Given the description of an element on the screen output the (x, y) to click on. 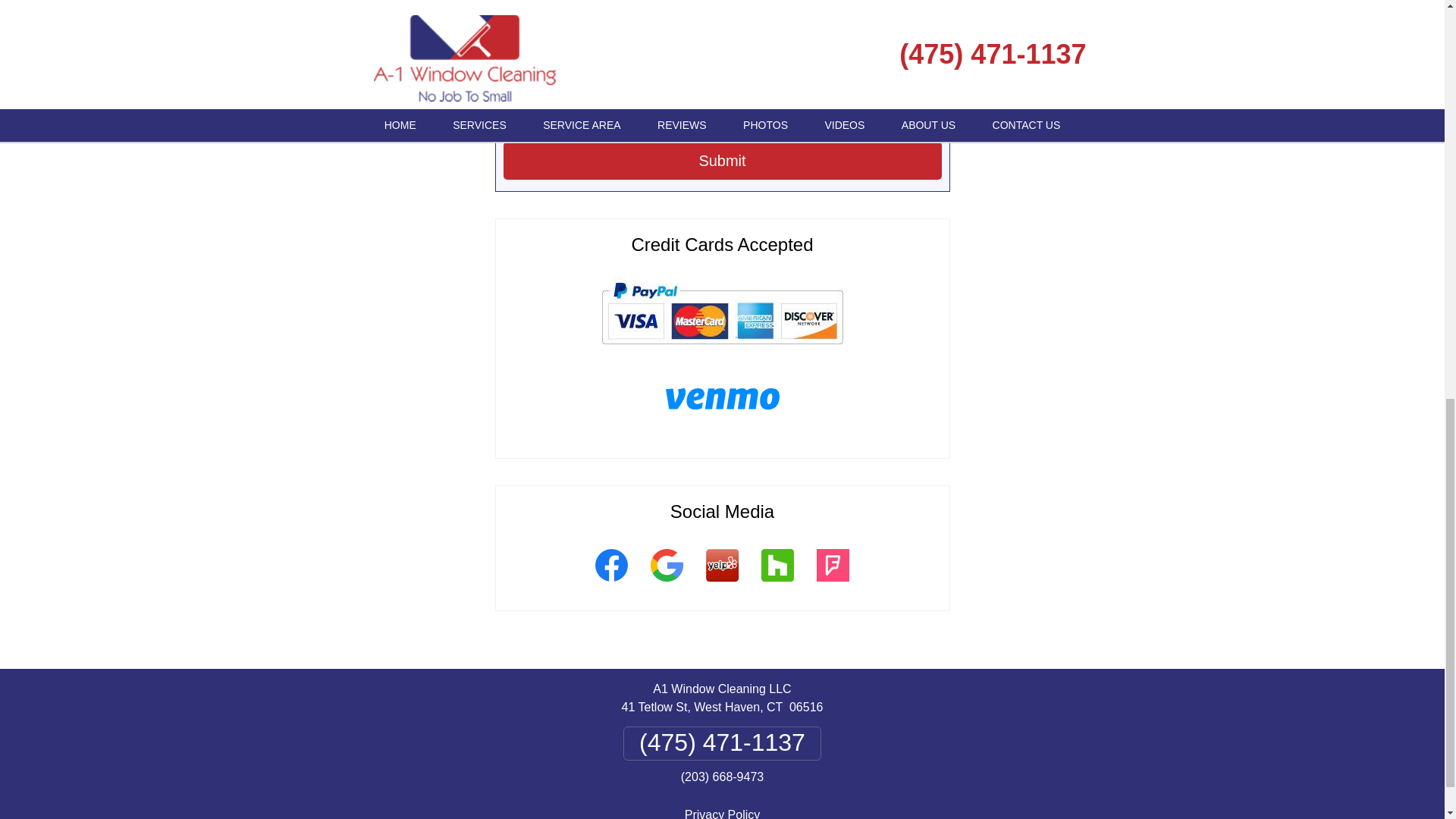
Yelp (721, 583)
Foursquare (832, 583)
Privacy Policy (722, 813)
Facebook (611, 583)
Google (666, 583)
Houzz (777, 583)
Submit (722, 160)
